Given the description of an element on the screen output the (x, y) to click on. 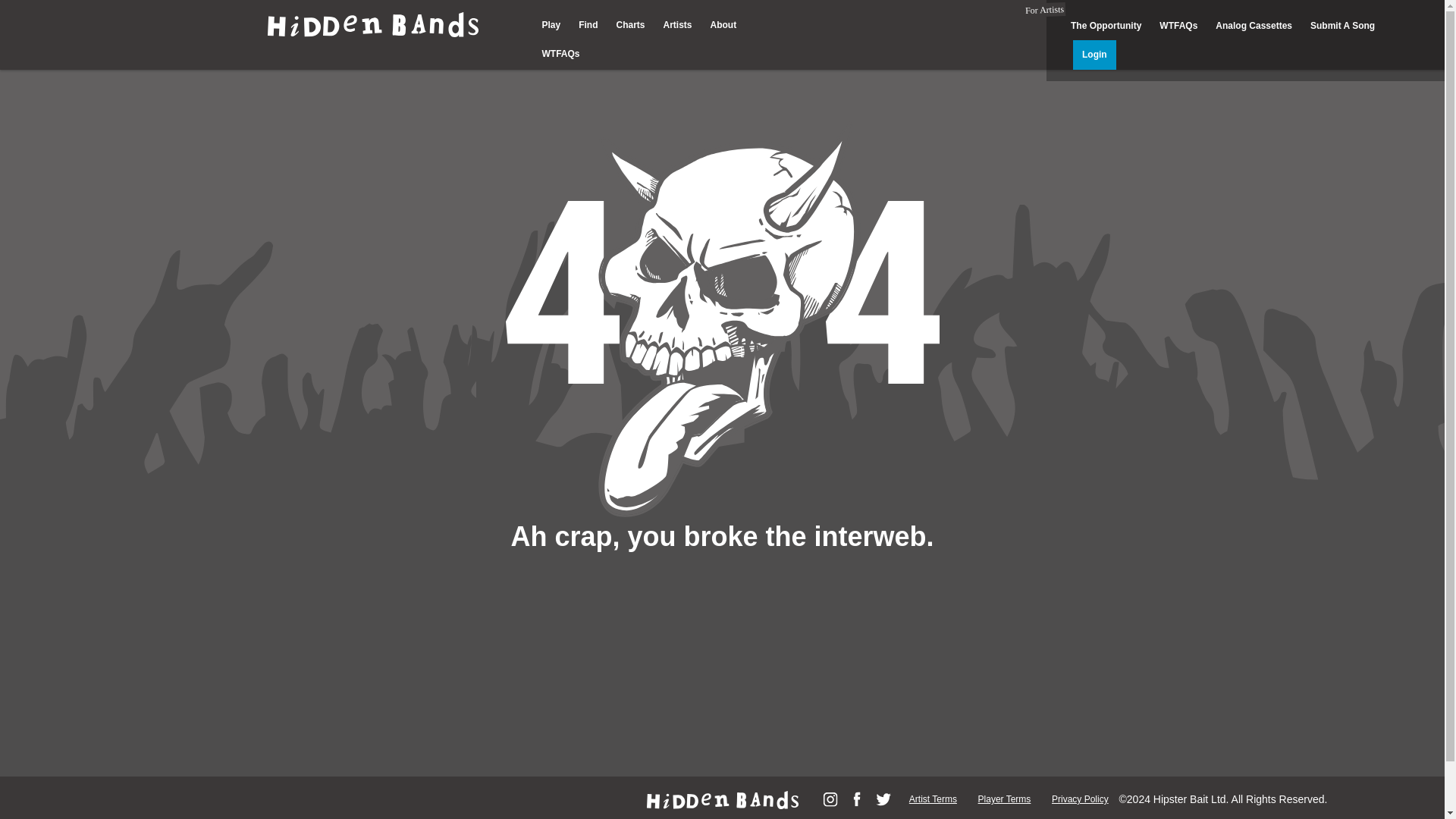
Instagram (830, 798)
WTFAQs (560, 53)
The Opportunity (1105, 25)
Login (1094, 54)
Charts (630, 24)
Player Terms (1004, 799)
Analog Cassettes (1254, 25)
WTFAQs (1178, 25)
Facebook (856, 798)
Play (550, 24)
Privacy Policy (1079, 799)
Twitter (883, 798)
Find (588, 24)
Artist Terms (932, 799)
Submit A Song (1342, 25)
